Given the description of an element on the screen output the (x, y) to click on. 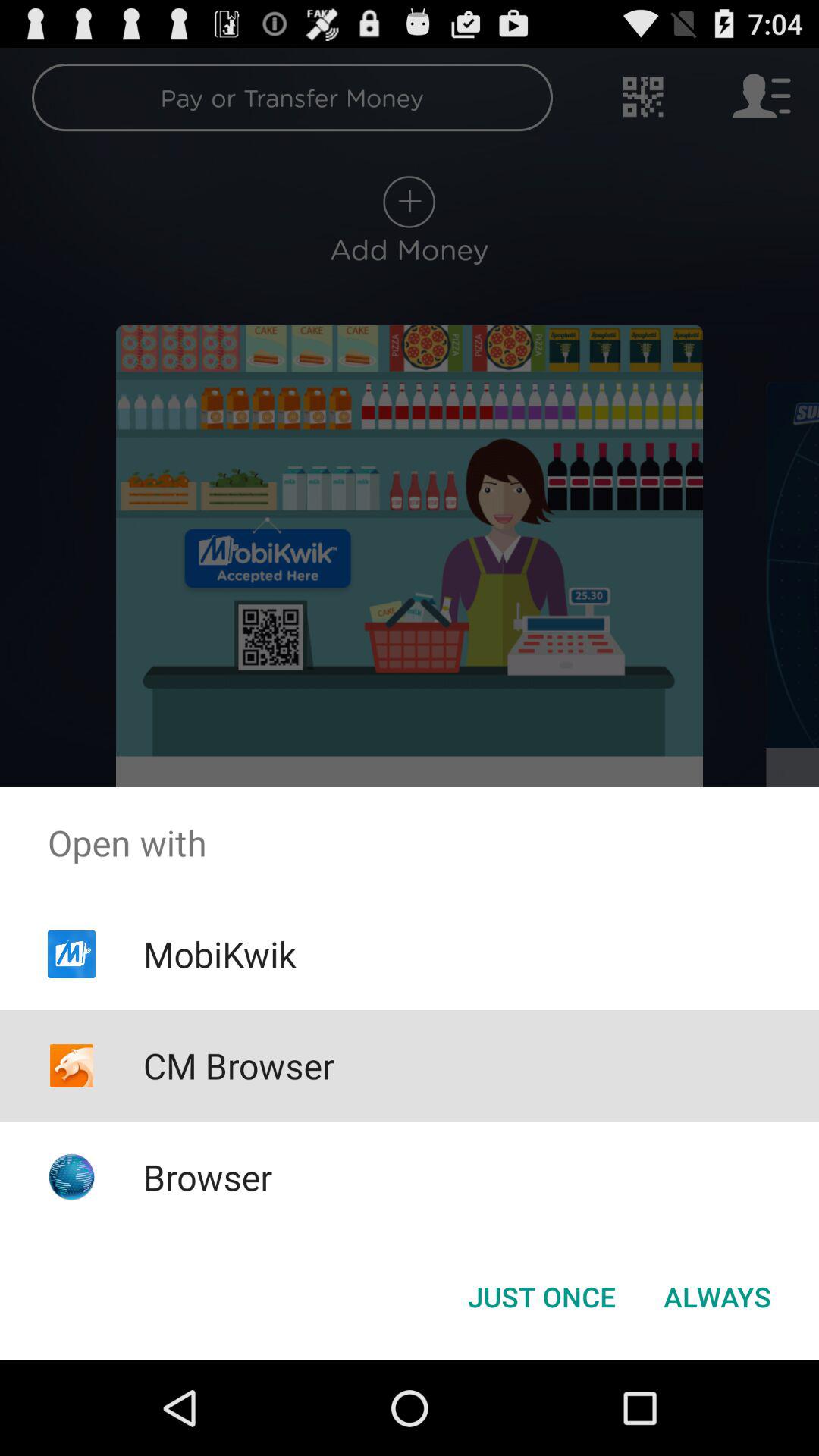
select pay or transfer money on the top of the screen (376, 103)
